Given the description of an element on the screen output the (x, y) to click on. 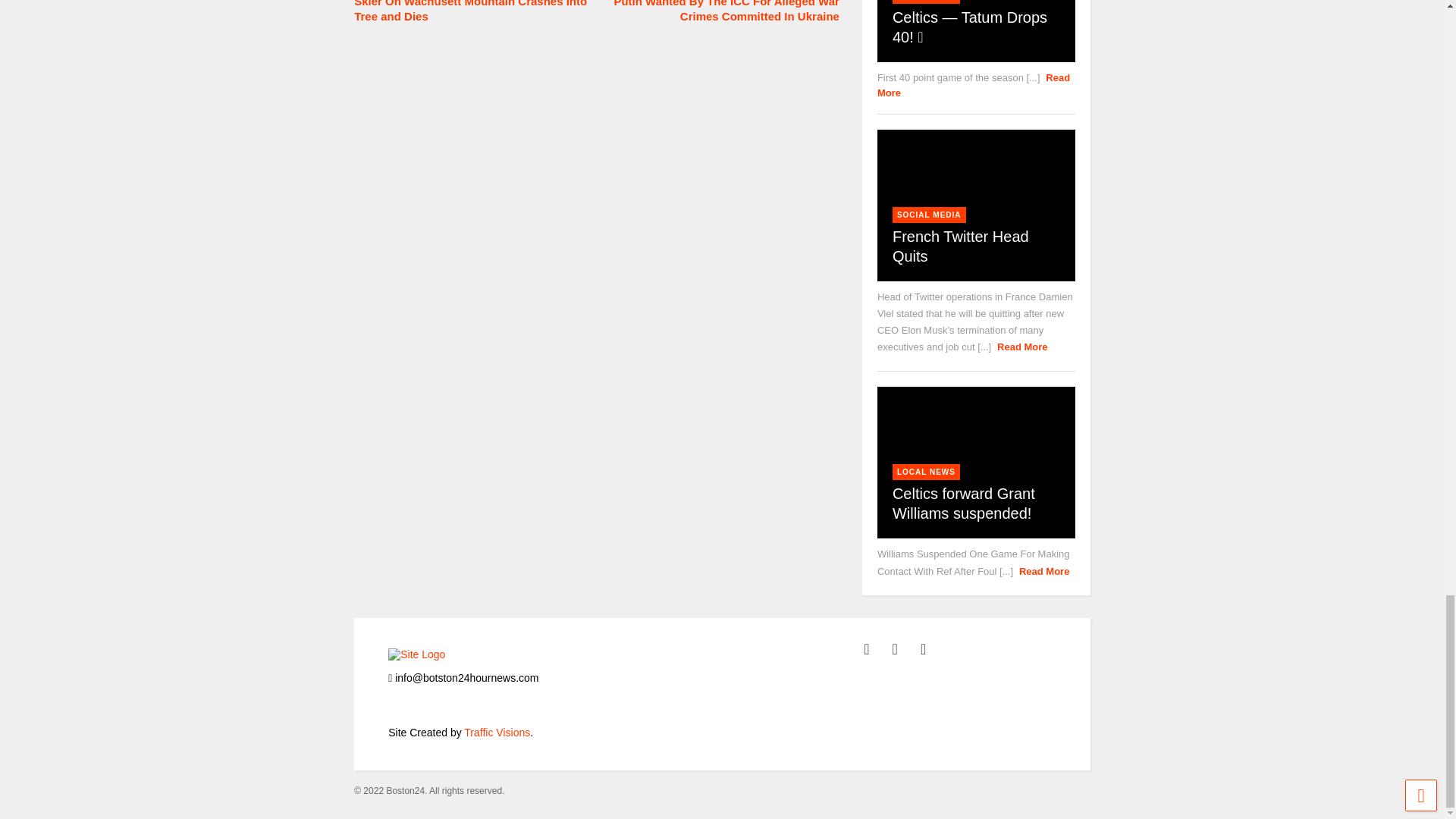
Skier On Wachusett Mountain Crashes Into Tree and Dies (471, 11)
